Given the description of an element on the screen output the (x, y) to click on. 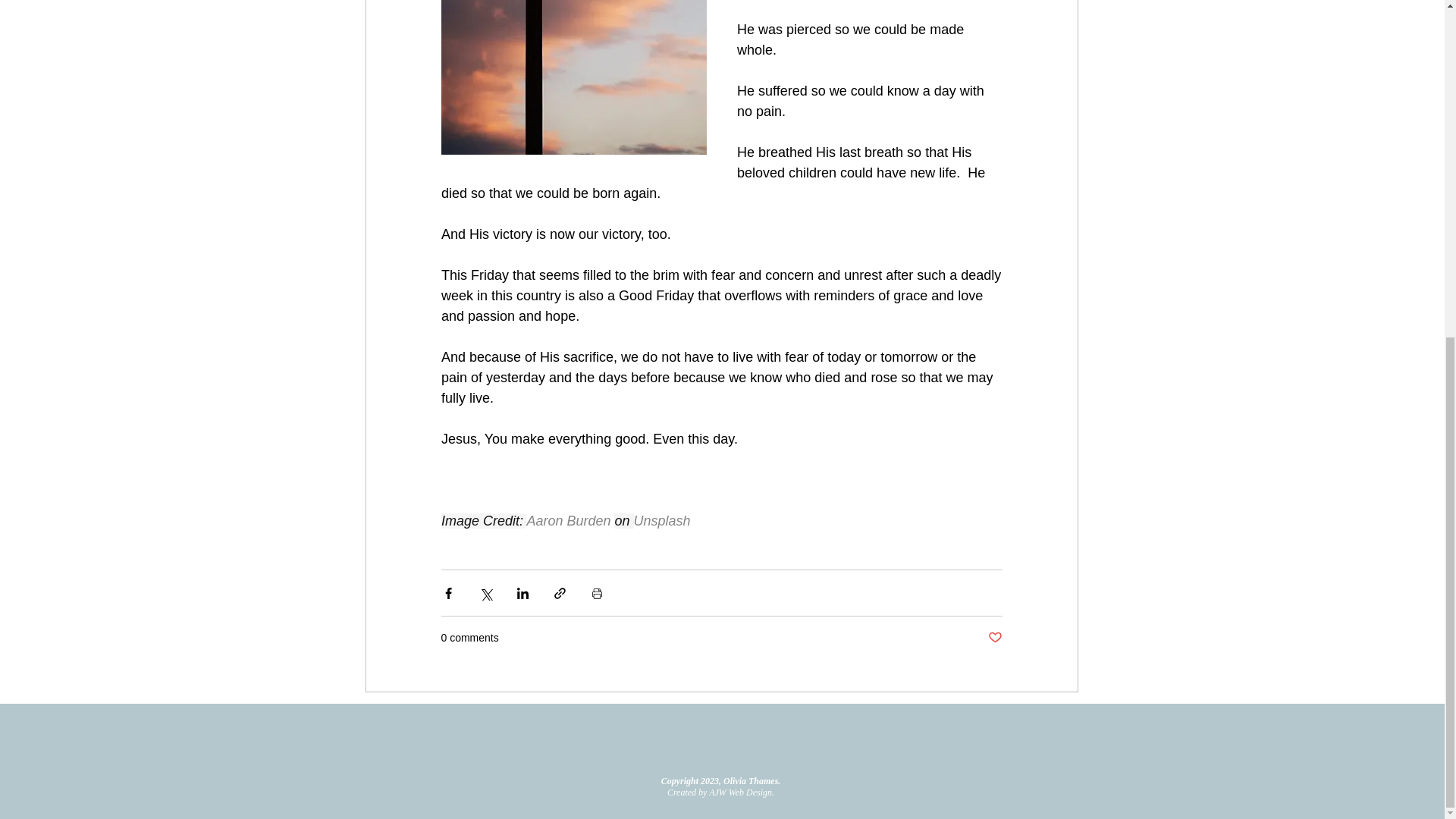
Unsplash (661, 520)
Aaron Burden (567, 520)
Post not marked as liked (994, 637)
